Given the description of an element on the screen output the (x, y) to click on. 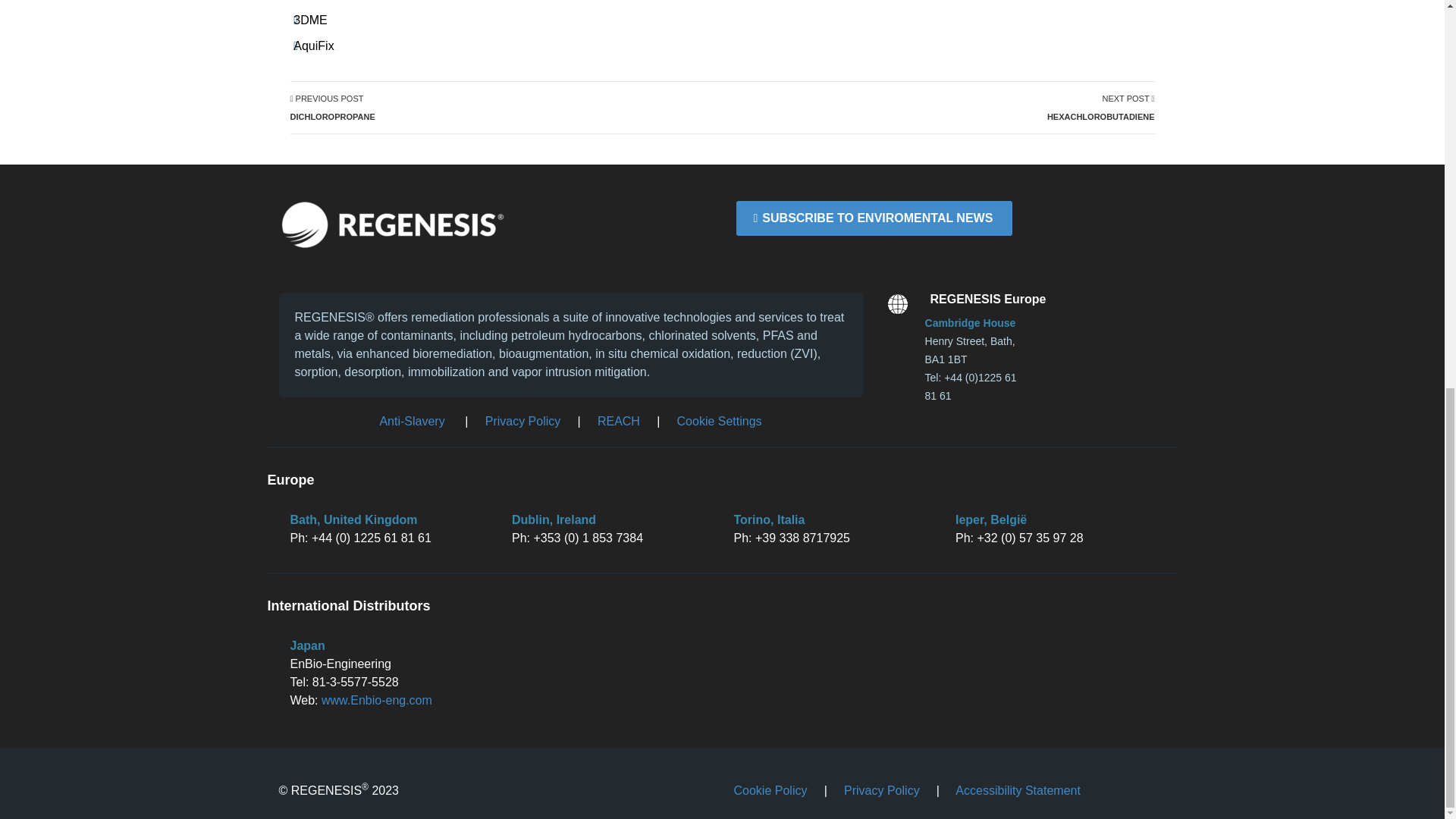
regenesis-footer-logo (392, 224)
